Given the description of an element on the screen output the (x, y) to click on. 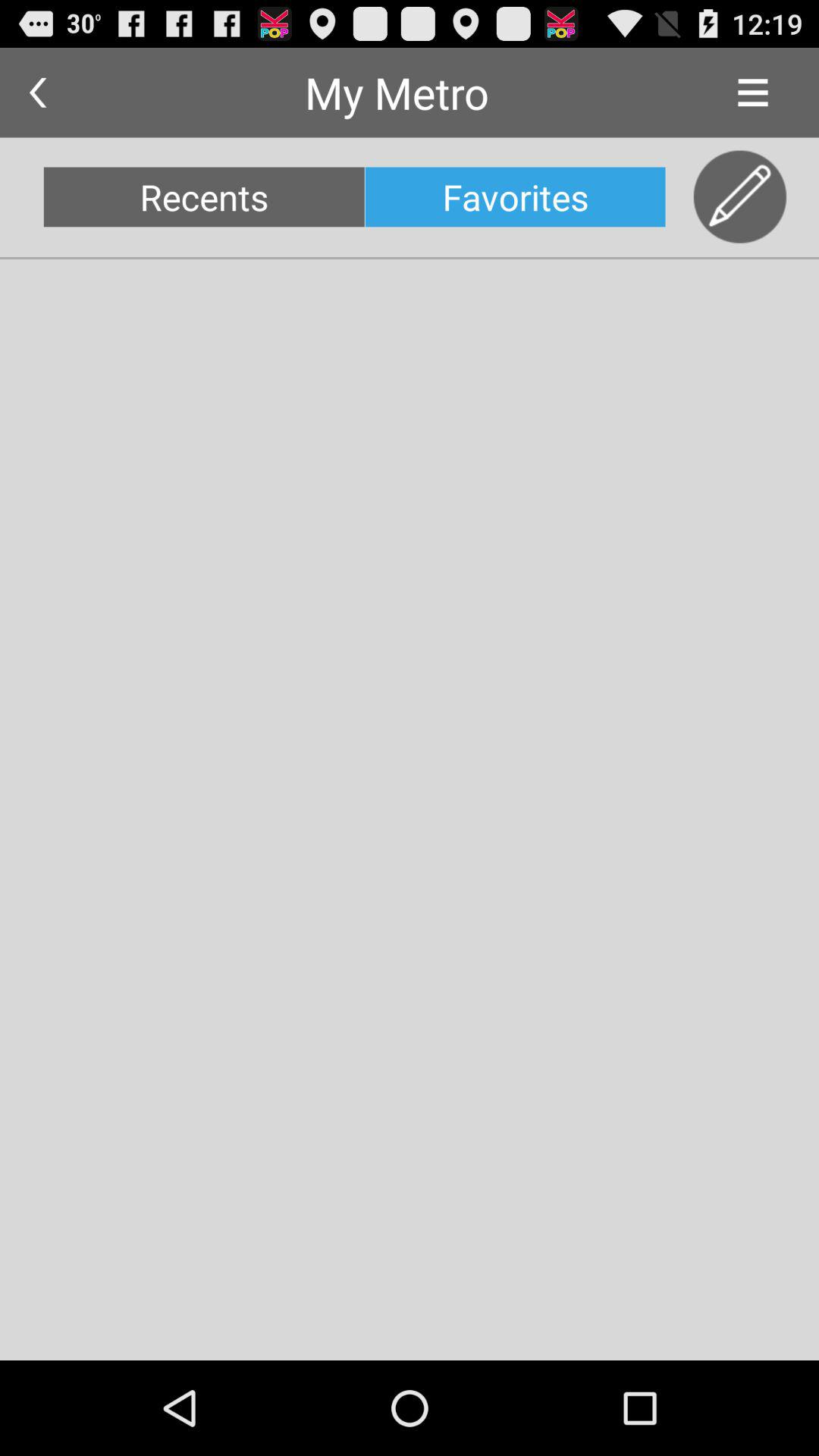
open item next to the favorites app (740, 197)
